Given the description of an element on the screen output the (x, y) to click on. 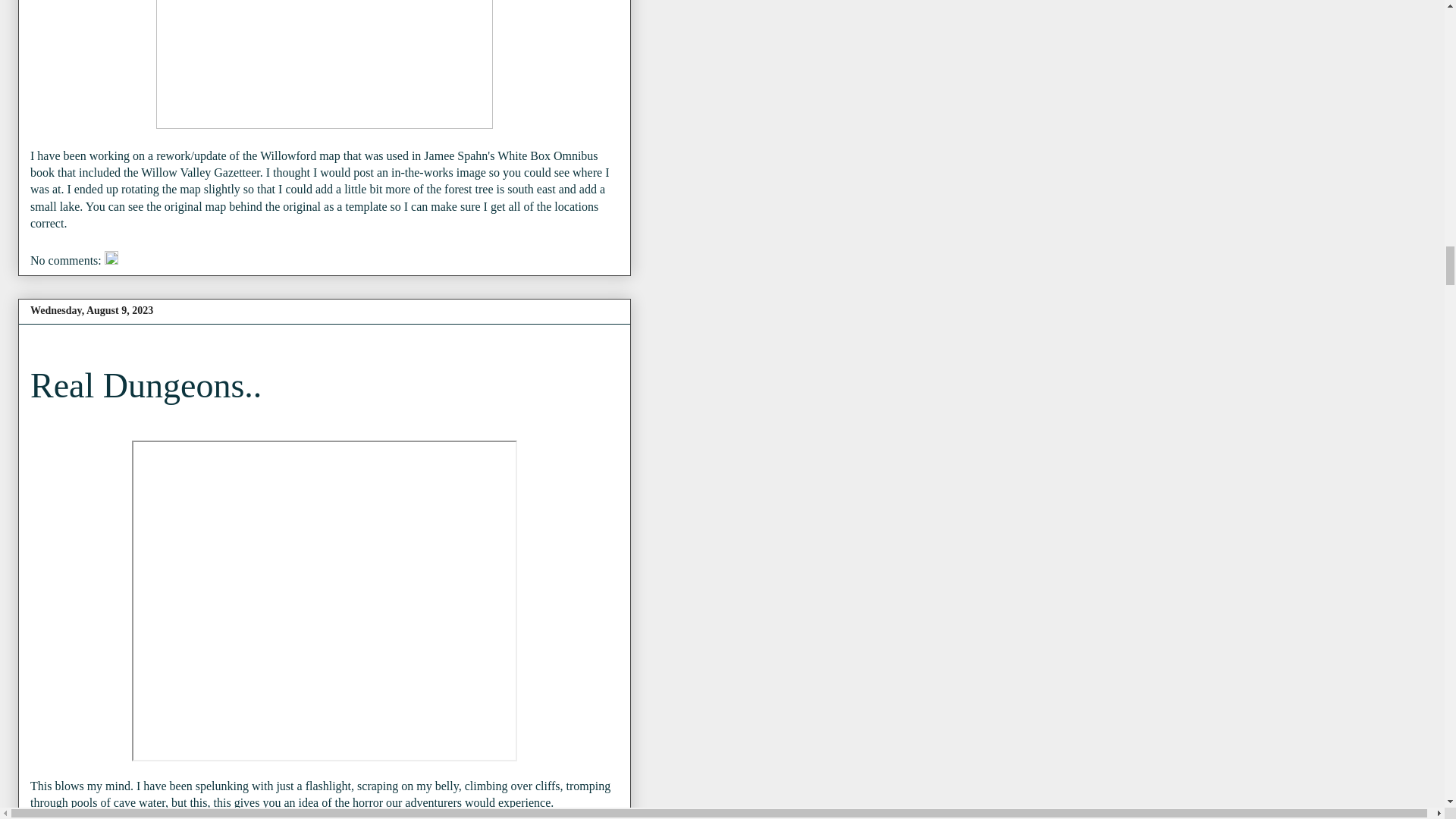
No comments: (67, 259)
Edit Post (110, 259)
